Given the description of an element on the screen output the (x, y) to click on. 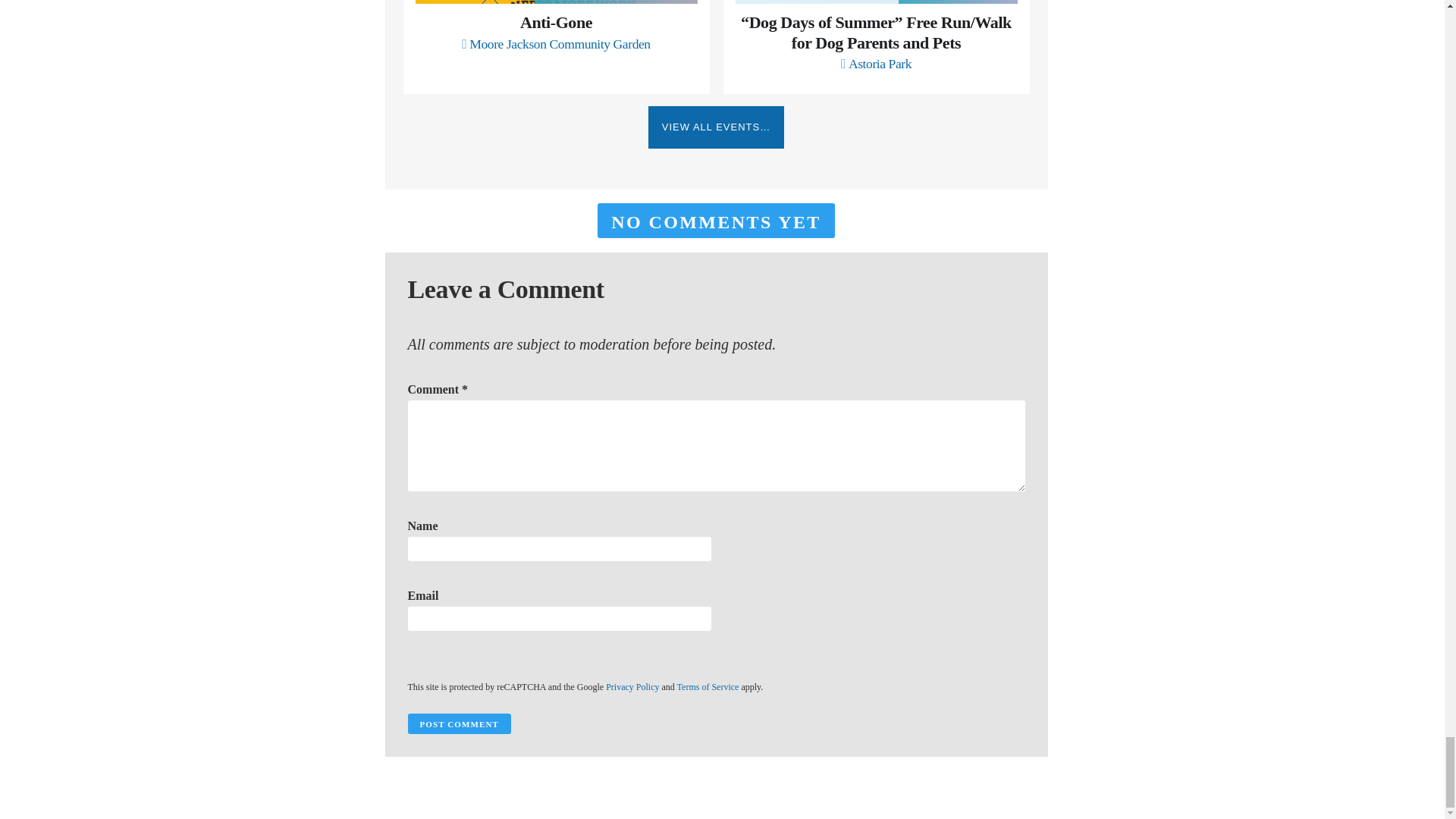
Post Comment (459, 723)
